Given the description of an element on the screen output the (x, y) to click on. 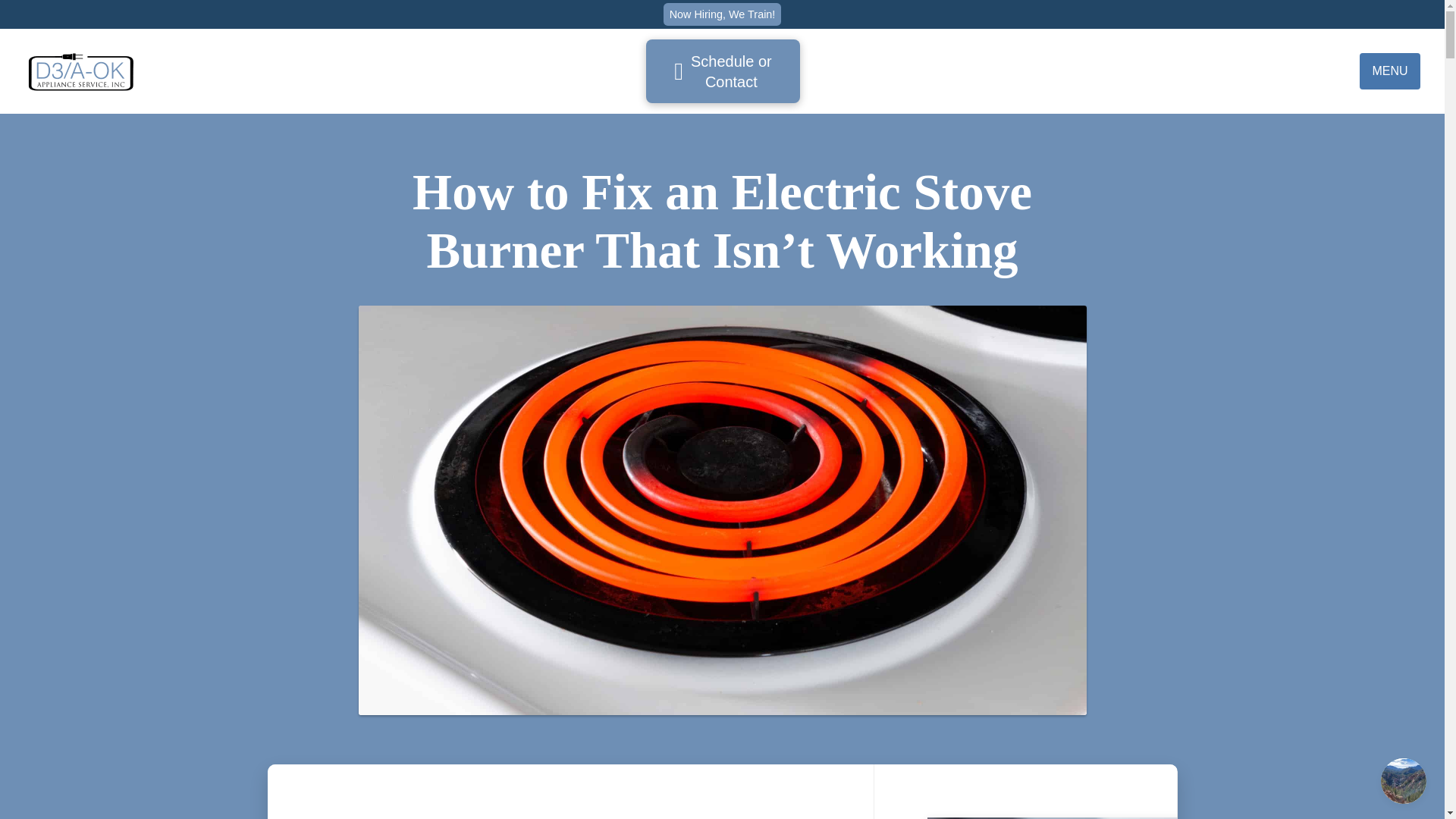
Now Hiring, We Train! (722, 14)
